Given the description of an element on the screen output the (x, y) to click on. 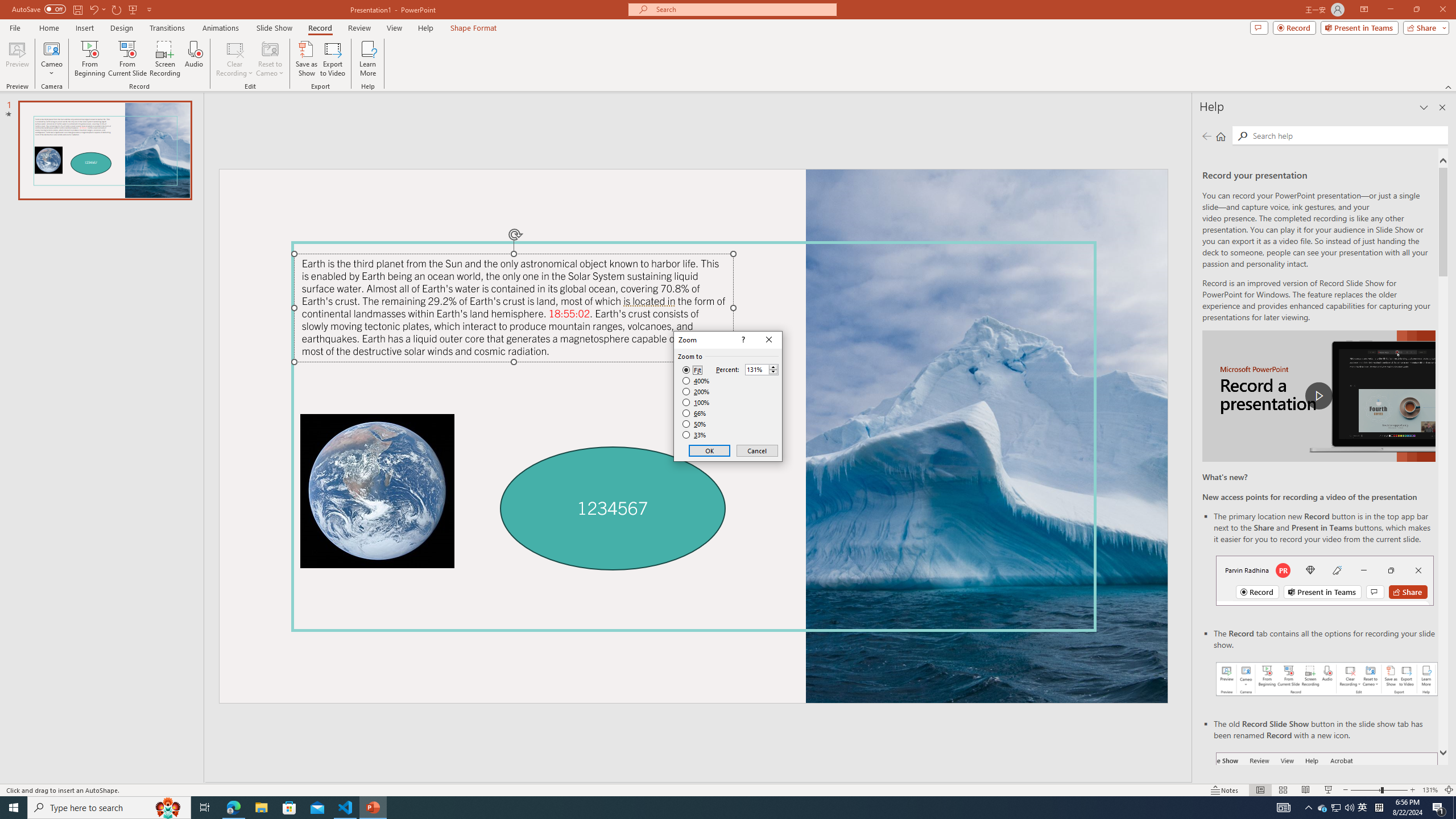
Percent (756, 369)
